Given the description of an element on the screen output the (x, y) to click on. 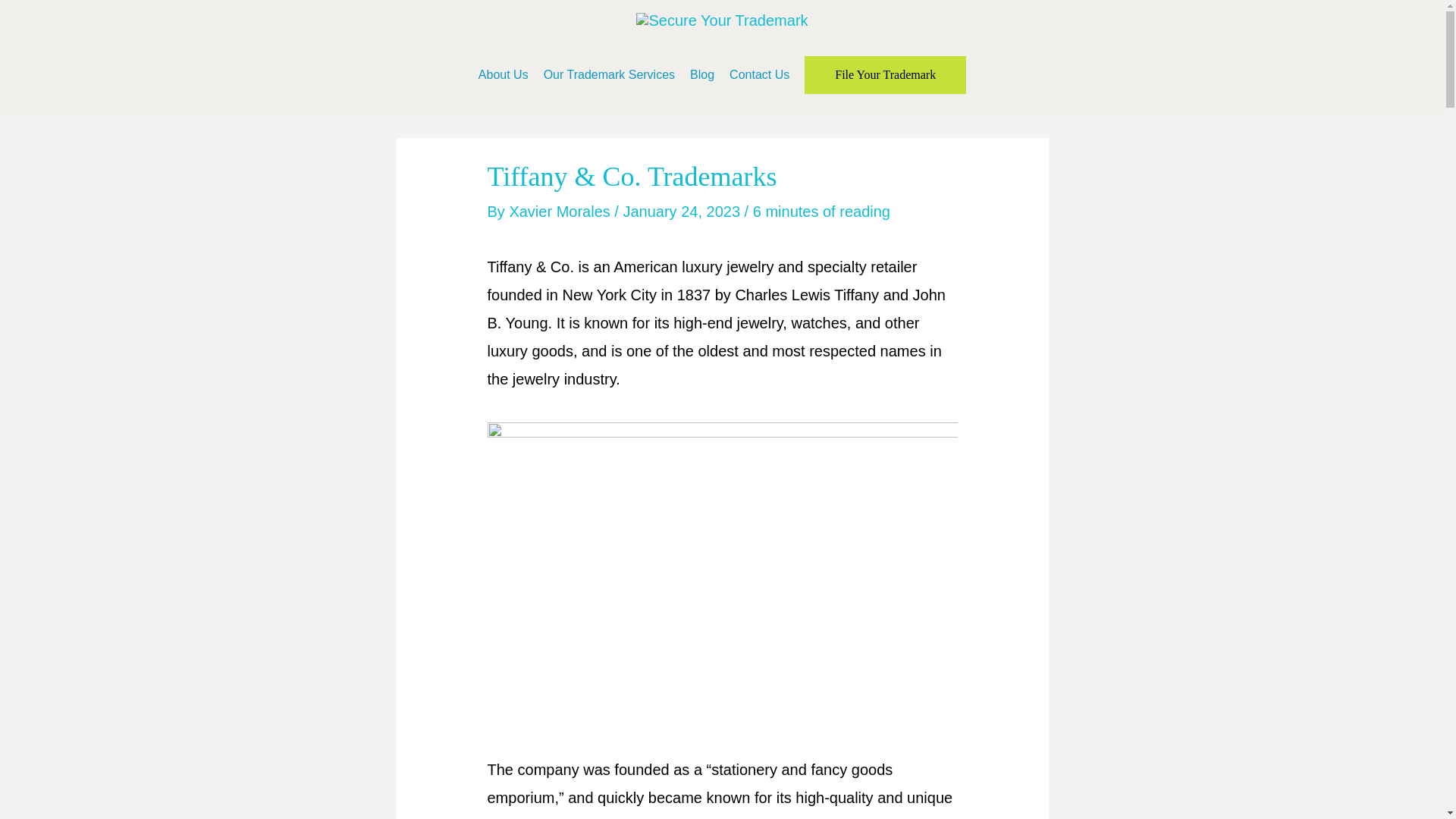
View all posts by Xavier Morales (561, 211)
About Us (502, 74)
File Your Trademark (885, 75)
Contact Us (759, 74)
Our Trademark Services (608, 74)
Xavier Morales (561, 211)
